Given the description of an element on the screen output the (x, y) to click on. 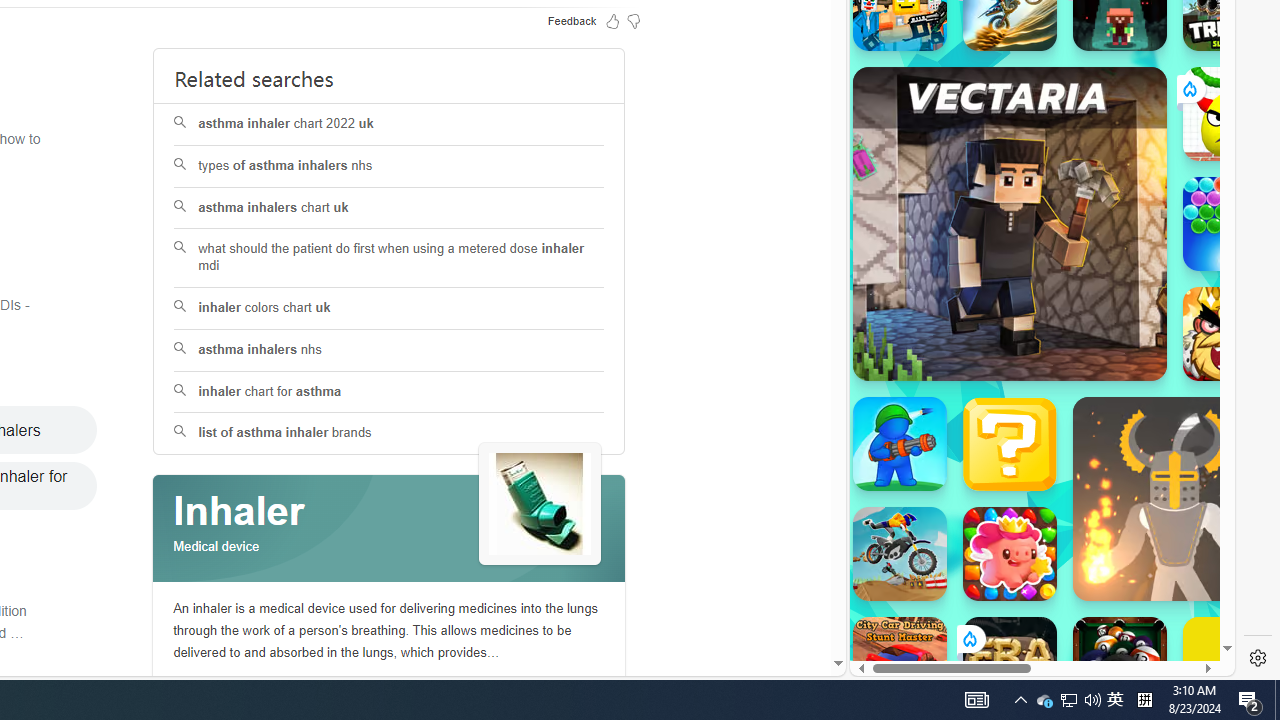
Crazy Bikes Crazy Bikes (899, 553)
Ragdoll Hit (1174, 498)
asthma inhalers nhs (389, 350)
Crazy Bikes (899, 553)
inhaler chart for asthma (388, 391)
Like a King (1229, 333)
asthma inhaler chart 2022 uk (389, 124)
War Master (899, 443)
Combat Reloaded (1092, 300)
8 Ball Pool With Buddies 8 Ball Pool With Buddies (1119, 664)
War Master War Master (899, 443)
types of asthma inhalers nhs (388, 165)
